Given the description of an element on the screen output the (x, y) to click on. 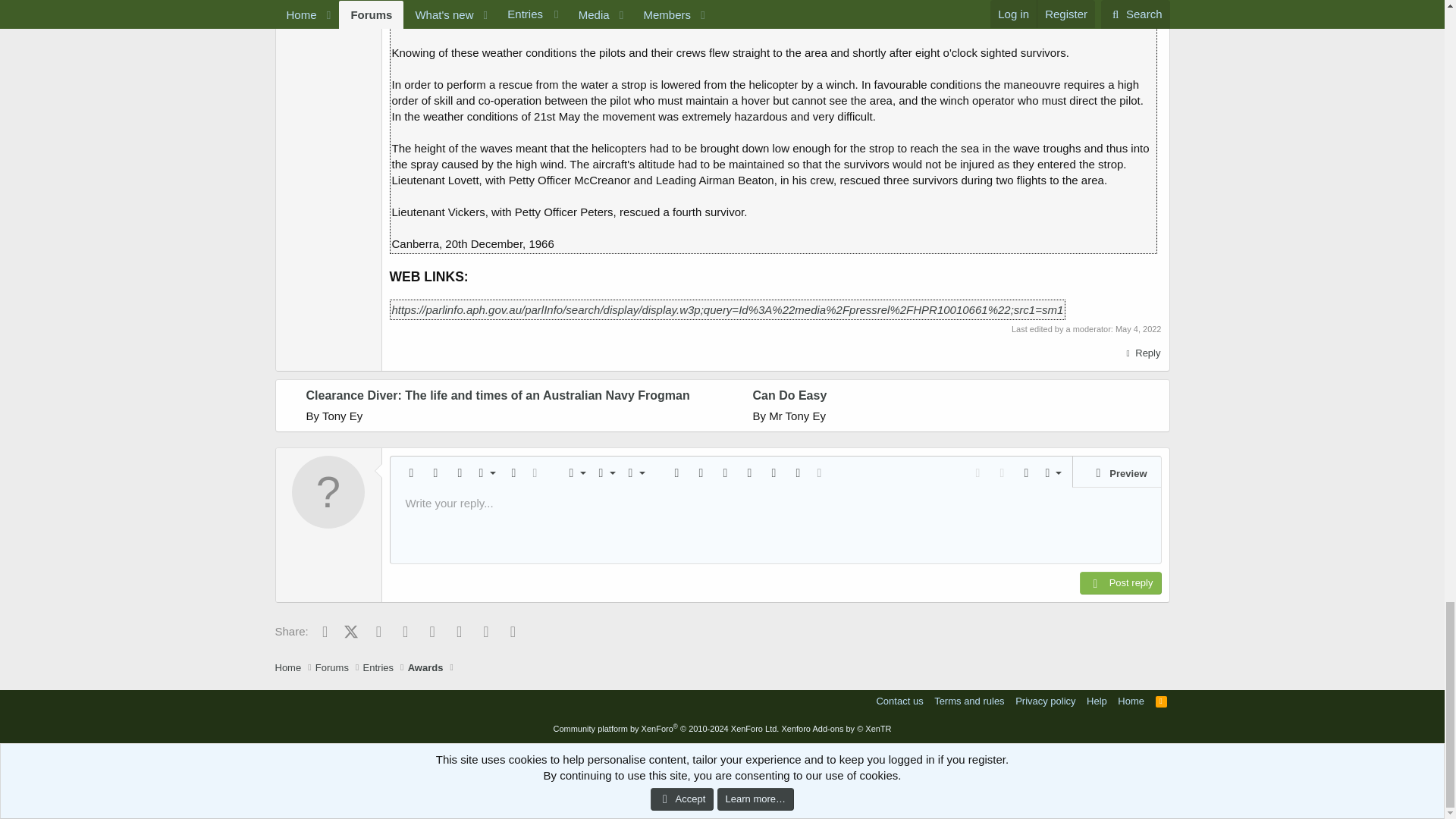
Font size (484, 473)
Text color (513, 473)
Reply, quoting this message (1141, 353)
Remove formatting (411, 473)
May 4, 2022 at 10:29 AM (1138, 328)
